Given the description of an element on the screen output the (x, y) to click on. 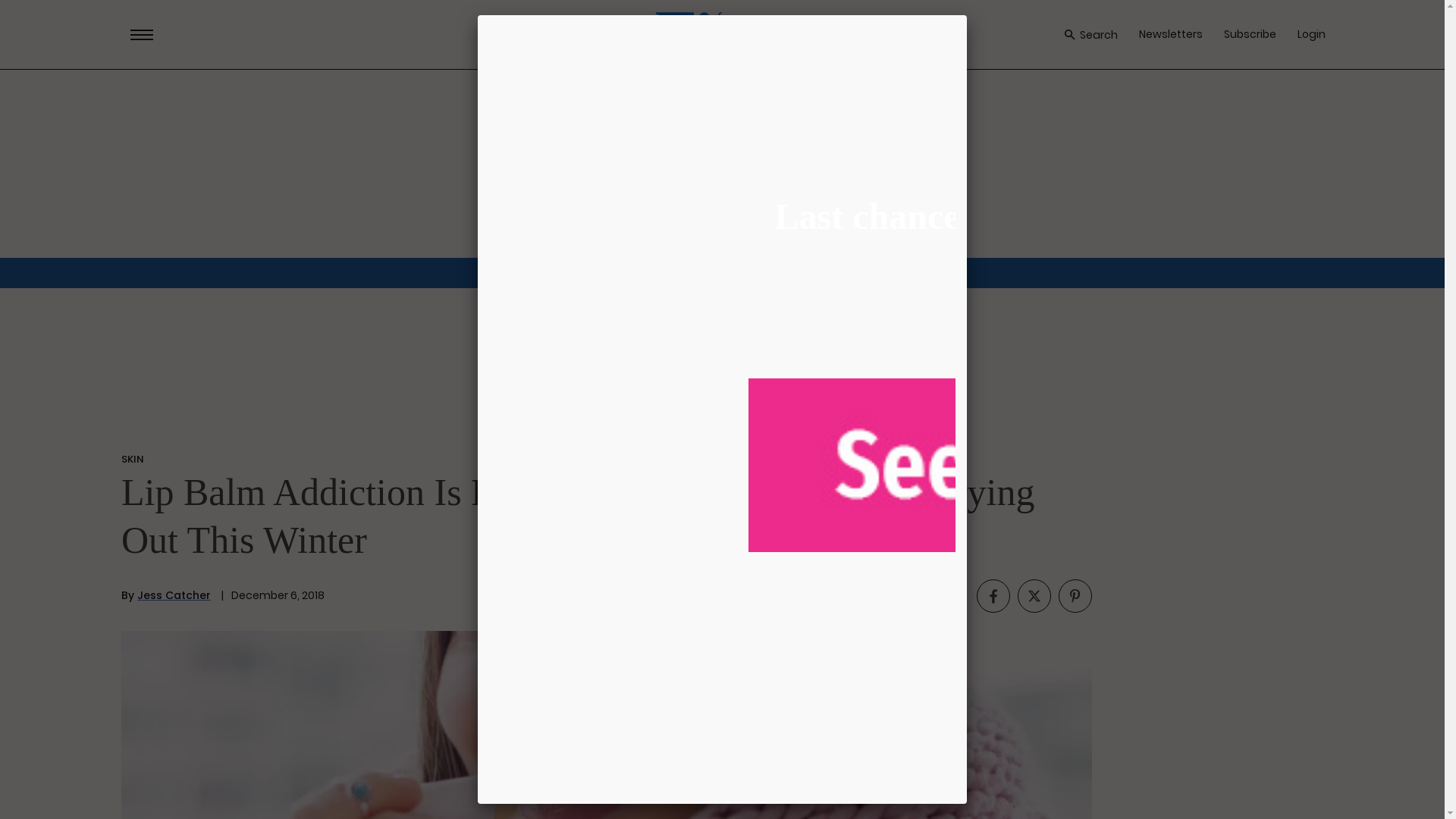
Click to share on Twitter (1034, 595)
Click to share on Pinterest (1075, 595)
Click to share on Facebook (993, 595)
